Given the description of an element on the screen output the (x, y) to click on. 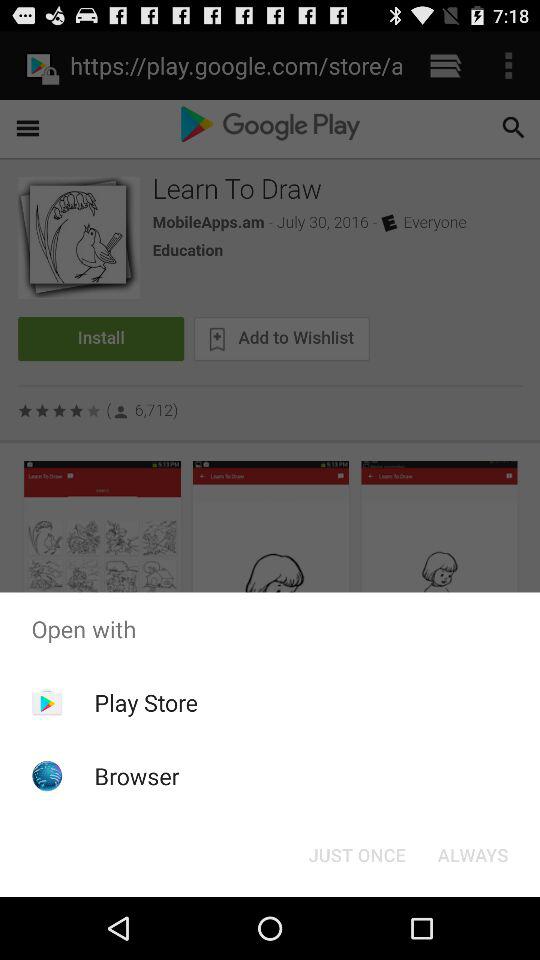
choose item to the left of always button (356, 854)
